Given the description of an element on the screen output the (x, y) to click on. 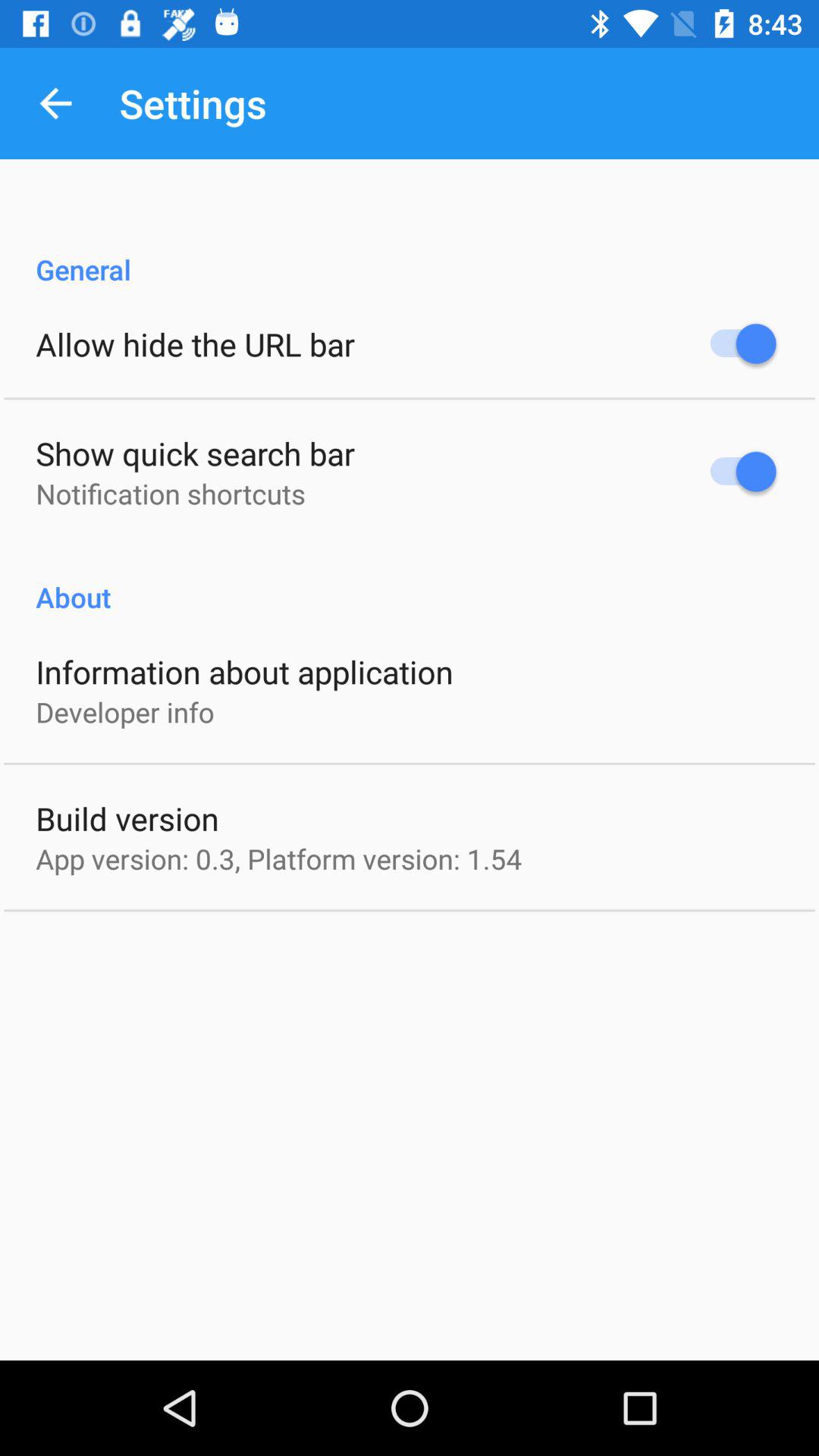
press notification shortcuts icon (170, 493)
